Given the description of an element on the screen output the (x, y) to click on. 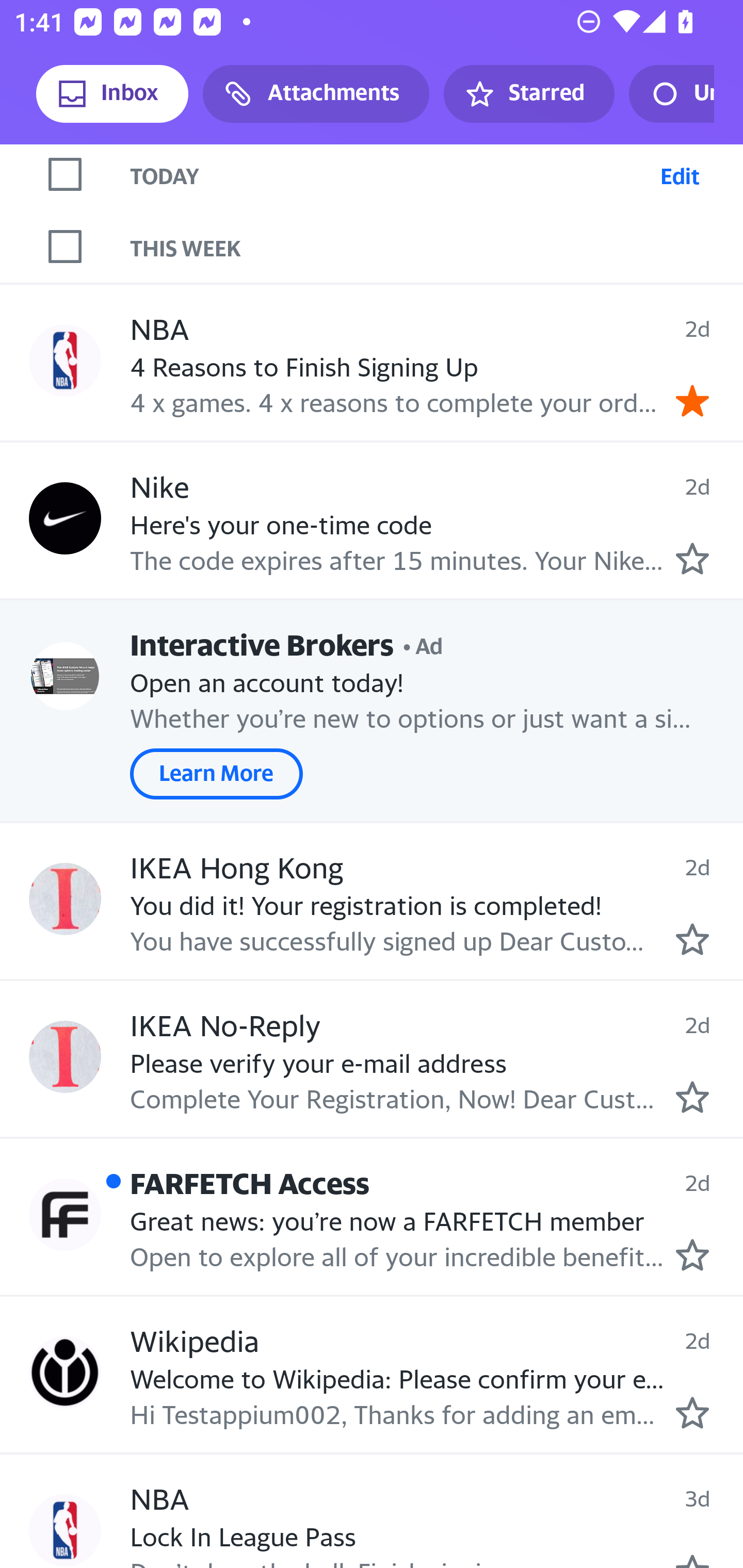
Attachments (315, 93)
Starred (528, 93)
THIS WEEK (436, 246)
Profile
NBA (64, 360)
Remove star. (692, 400)
Profile
Nike (64, 518)
Mark as starred. (692, 558)
Profile
IKEA Hong Kong (64, 898)
Mark as starred. (692, 939)
Profile
IKEA No-Reply (64, 1056)
Mark as starred. (692, 1096)
Profile
FARFETCH Access (64, 1215)
Mark as starred. (692, 1255)
Profile
Wikipedia (64, 1371)
Mark as starred. (692, 1411)
Profile
NBA (64, 1530)
